Given the description of an element on the screen output the (x, y) to click on. 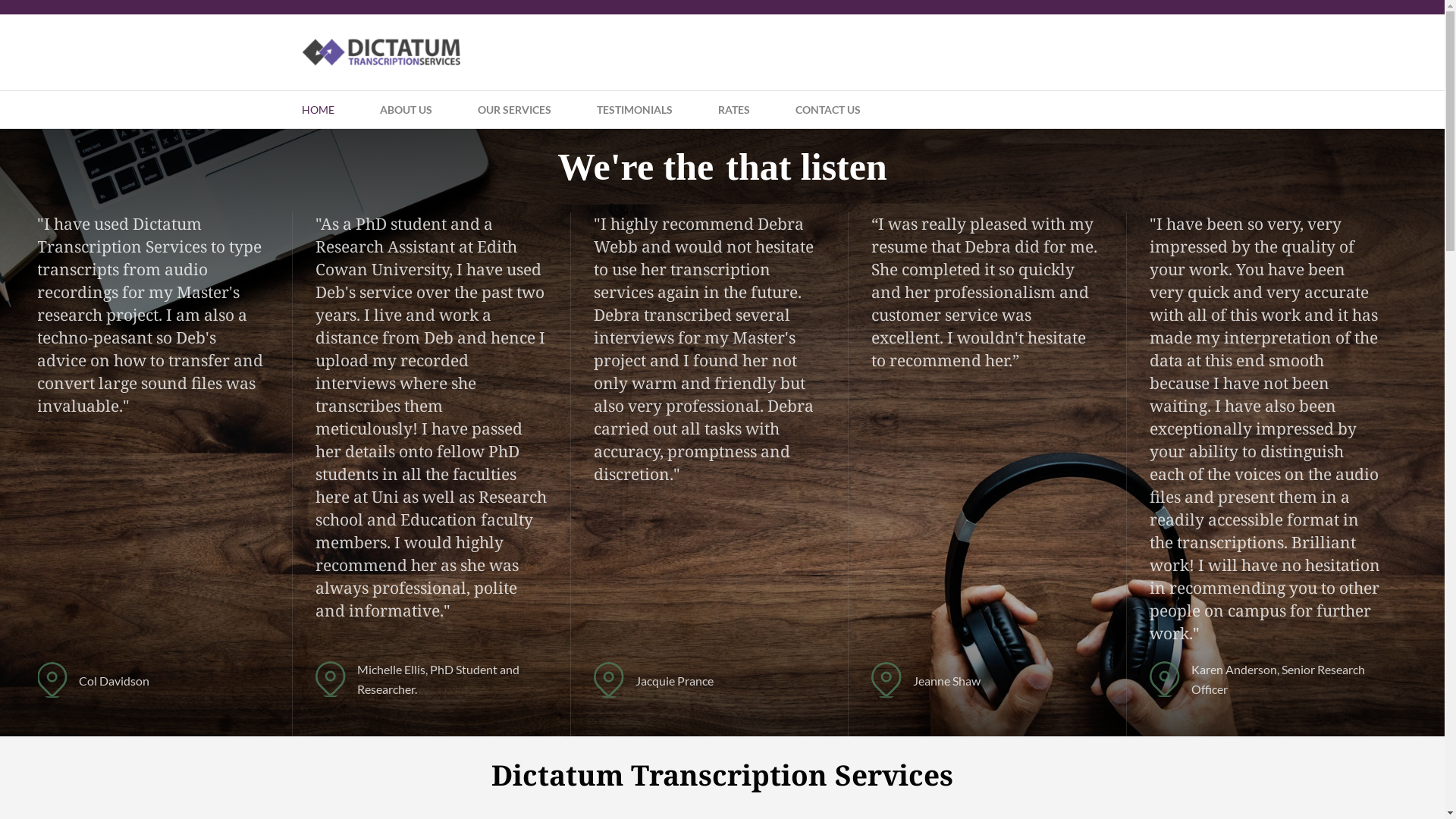
HOME Element type: text (317, 109)
OUR SERVICES Element type: text (513, 109)
ABOUT US Element type: text (405, 109)
TESTIMONIALS Element type: text (634, 109)
RATES Element type: text (733, 109)
CONTACT US Element type: text (828, 109)
